Given the description of an element on the screen output the (x, y) to click on. 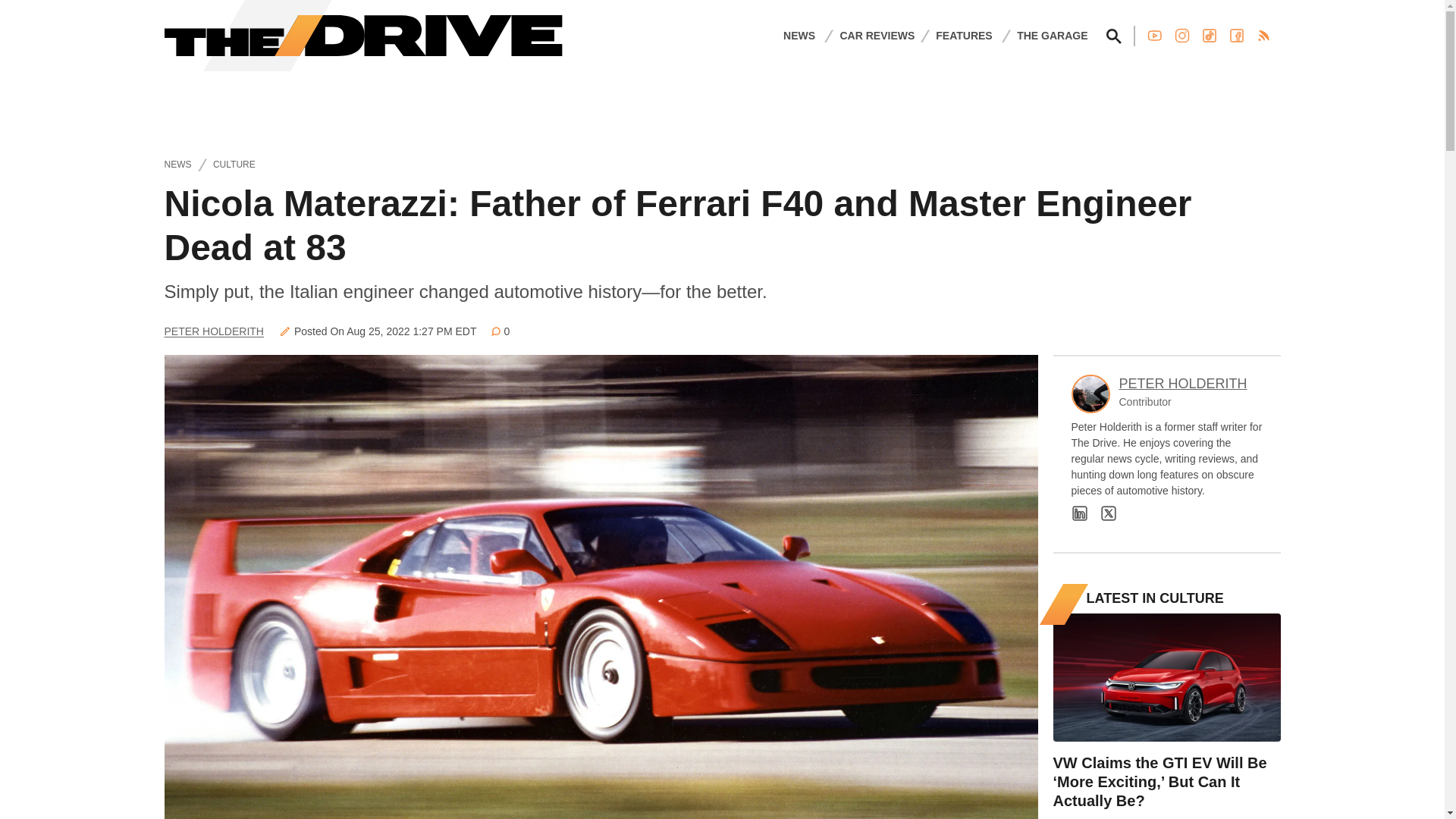
NEWS (799, 34)
